Given the description of an element on the screen output the (x, y) to click on. 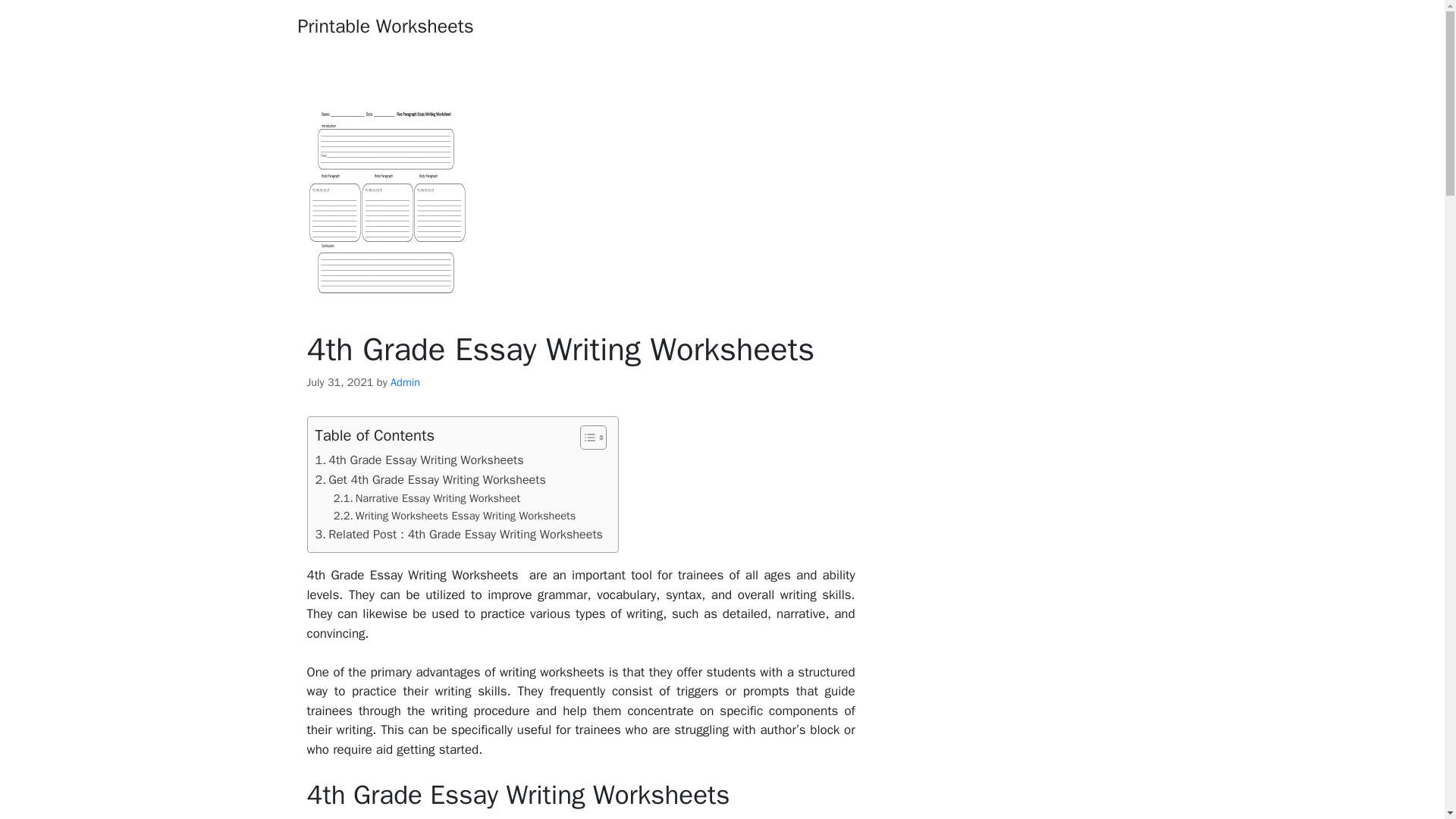
Related Post : 4th Grade Essay Writing Worksheets (458, 534)
Printable Worksheets (385, 25)
4th Grade Essay Writing Worksheets (419, 460)
Admin (405, 382)
Narrative Essay Writing Worksheet (426, 497)
View all posts by Admin (405, 382)
Get 4th Grade Essay Writing Worksheets (430, 479)
Writing Worksheets Essay Writing Worksheets (454, 515)
Narrative Essay Writing Worksheet (426, 497)
Writing Worksheets Essay Writing Worksheets (454, 515)
